Given the description of an element on the screen output the (x, y) to click on. 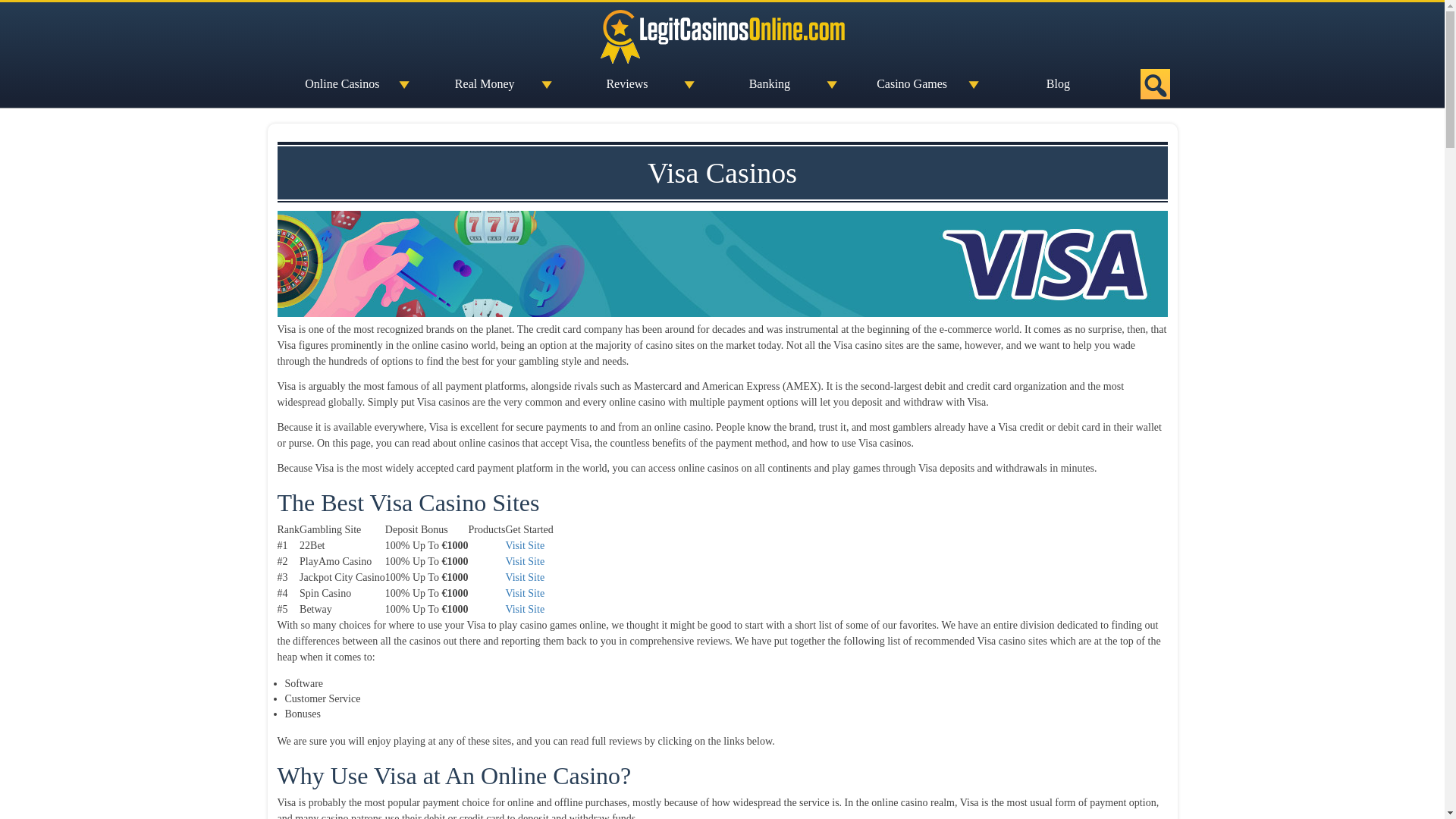
Reviews (630, 83)
Casino Games (915, 83)
Real Money (487, 83)
Online Casinos (345, 83)
Banking (772, 83)
